Given the description of an element on the screen output the (x, y) to click on. 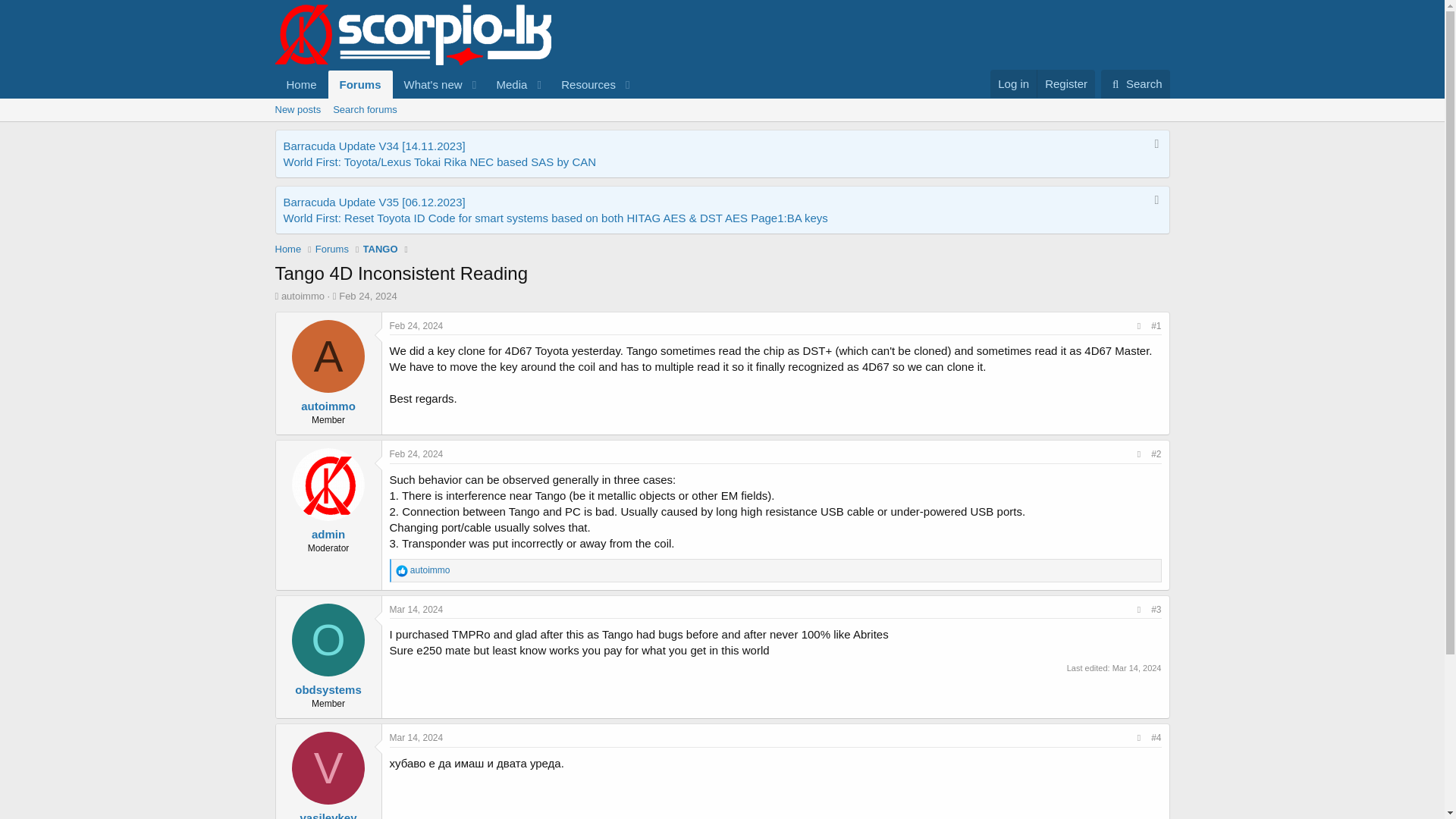
Forums (361, 84)
What's new (428, 84)
Feb 24, 2024 at 9:22 AM (417, 453)
Log in (1013, 83)
Search (1135, 83)
Mar 14, 2024 at 4:58 AM (417, 609)
Feb 24, 2024 at 2:38 AM (455, 84)
Search forums (720, 126)
Home (417, 326)
New posts (364, 109)
Feb 24, 2024 at 2:38 AM (455, 101)
Mar 14, 2024 at 5:05 AM (301, 84)
